Given the description of an element on the screen output the (x, y) to click on. 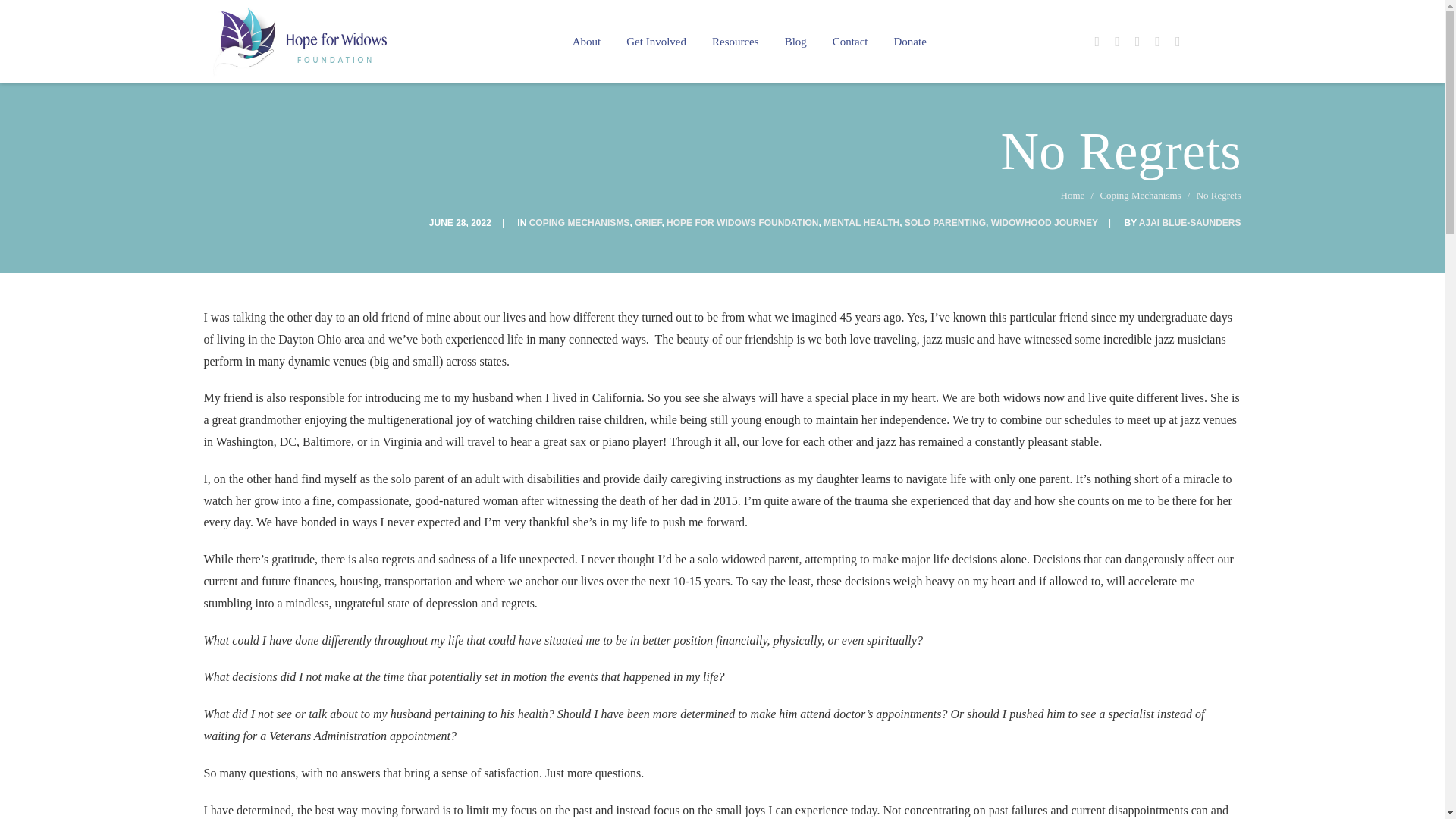
Contact (850, 41)
Donate (904, 41)
Blog (795, 41)
About (592, 41)
Get Involved (655, 41)
Resources (735, 41)
